Given the description of an element on the screen output the (x, y) to click on. 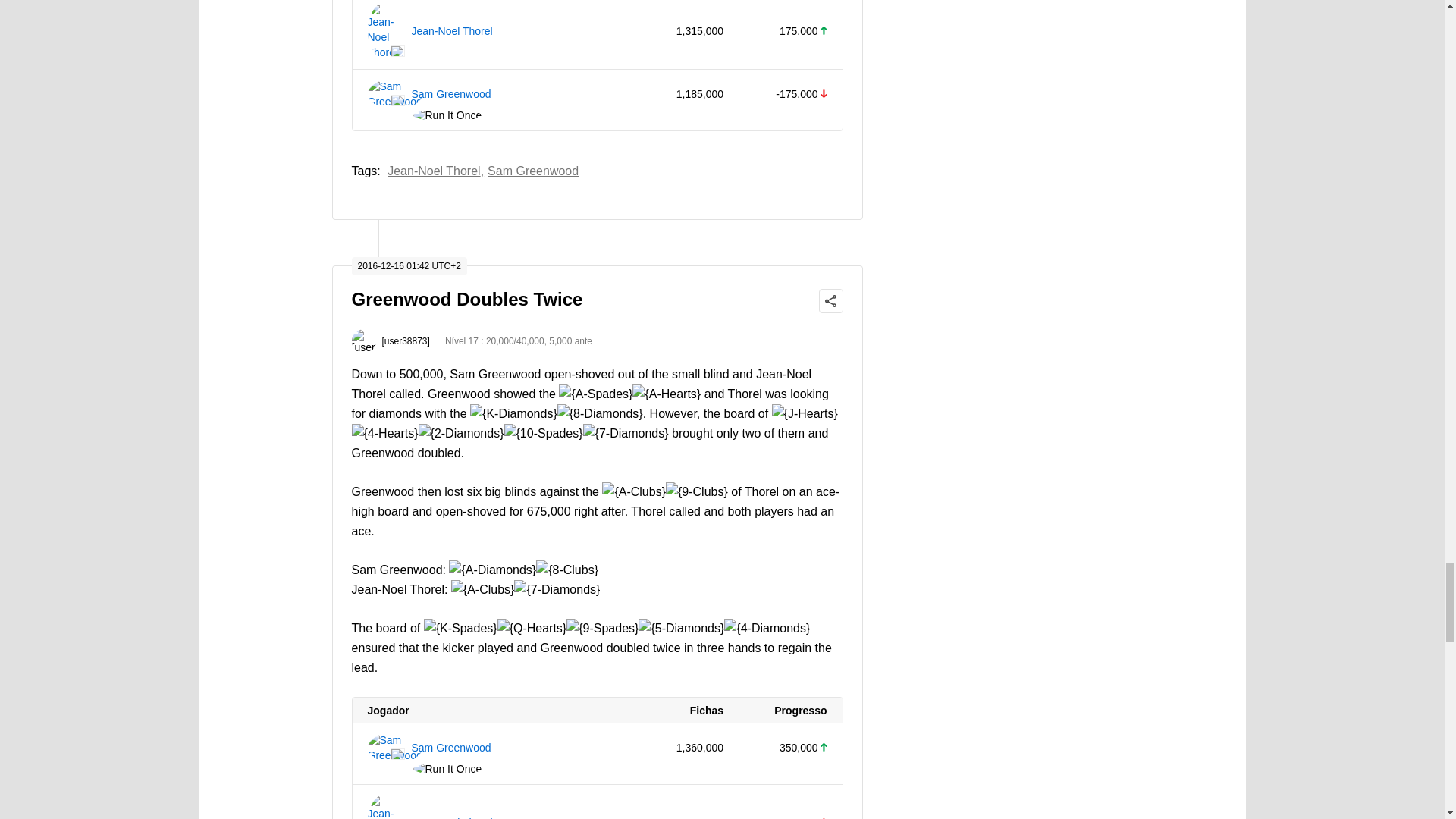
fr (397, 50)
ca (397, 100)
ca (397, 754)
